Given the description of an element on the screen output the (x, y) to click on. 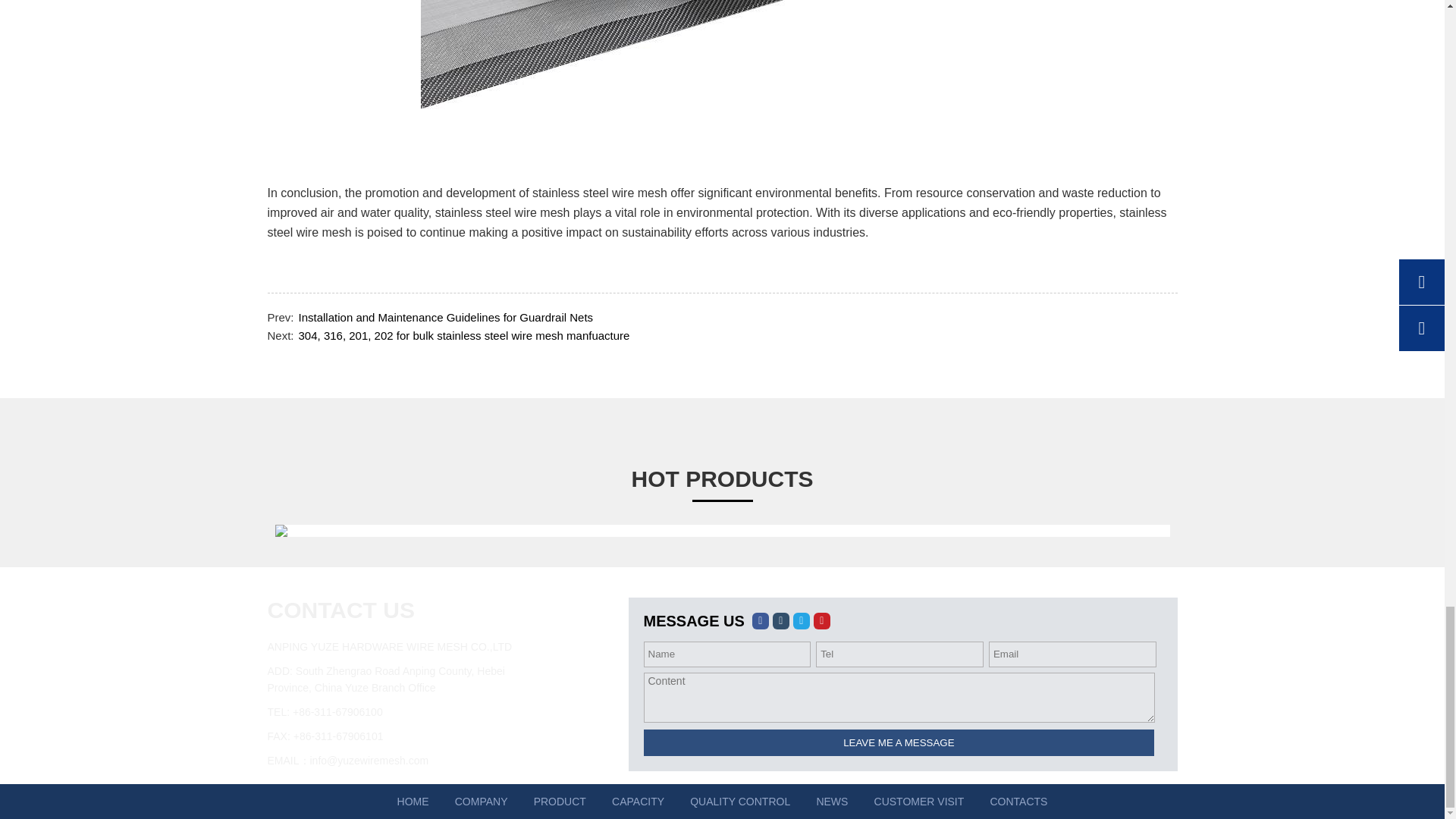
1712029325424803.jpg (723, 84)
leave me a message (898, 742)
Installation and Maintenance Guidelines for Guardrail Nets (446, 317)
